Given the description of an element on the screen output the (x, y) to click on. 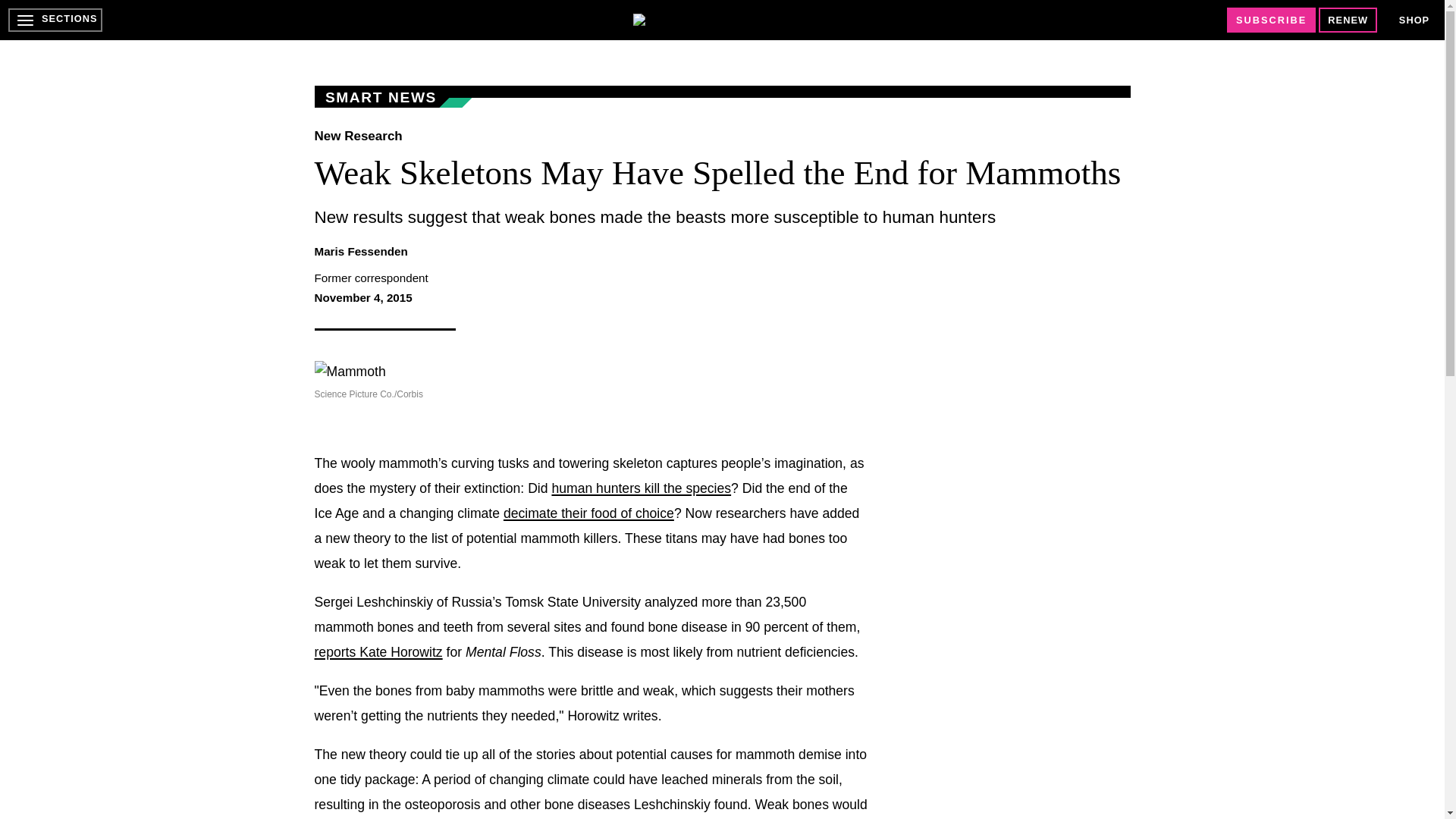
SECTIONS (55, 19)
SUBSCRIBE (1271, 19)
RENEW (1347, 19)
SUBSCRIBE (1271, 19)
SHOP (1413, 19)
SHOP (1414, 19)
RENEW (1348, 19)
